Given the description of an element on the screen output the (x, y) to click on. 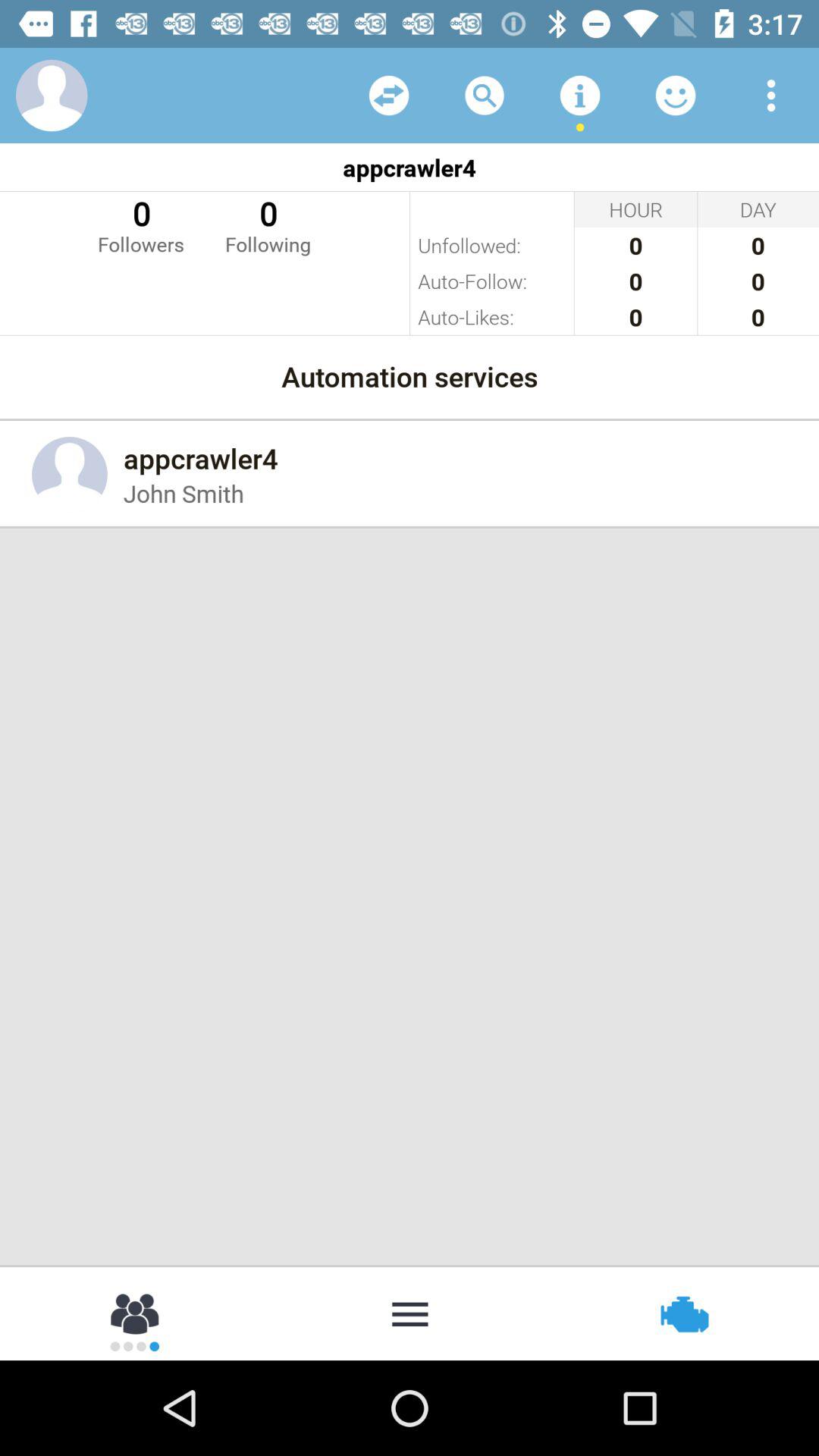
contact (51, 95)
